Given the description of an element on the screen output the (x, y) to click on. 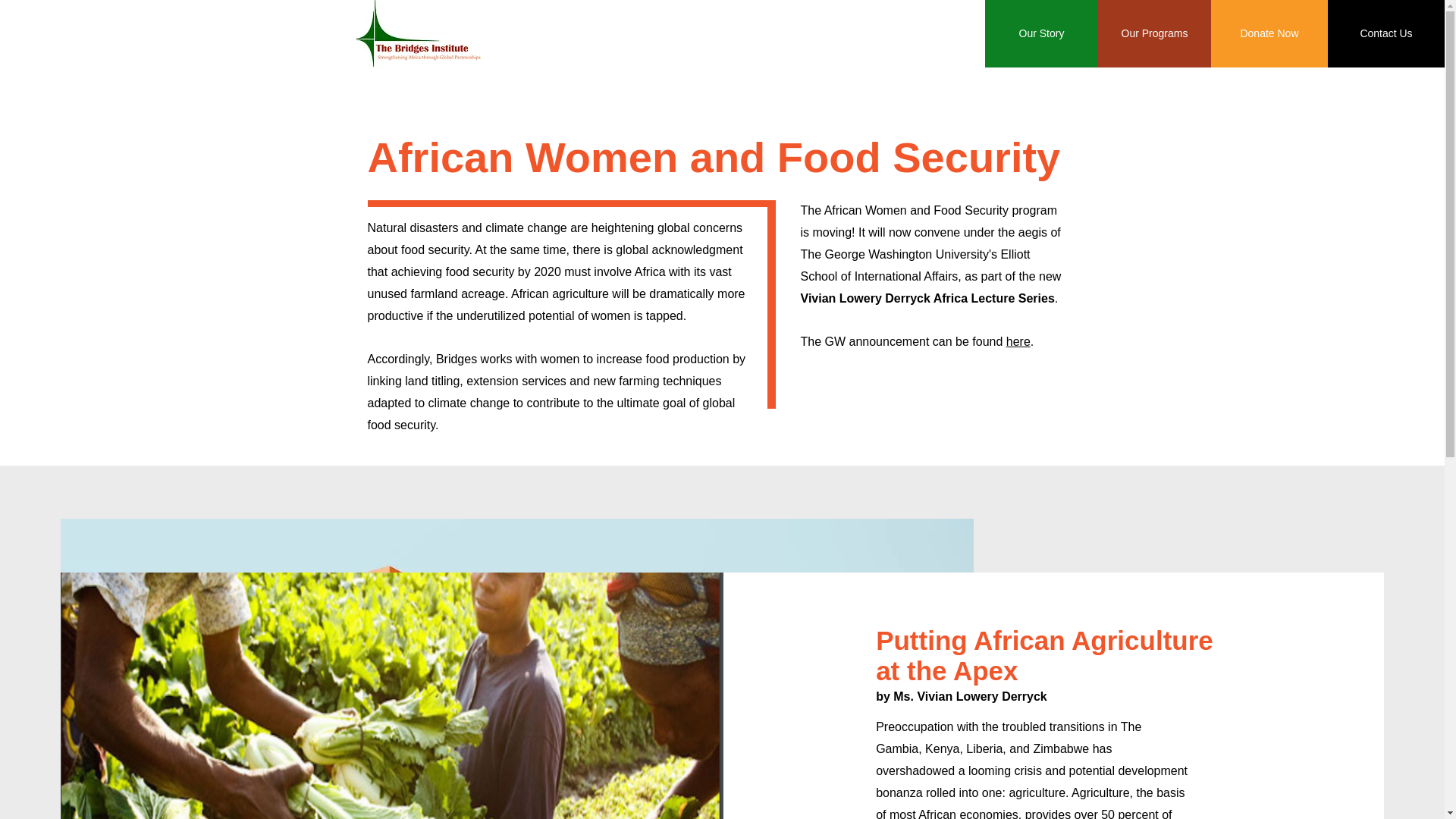
Donate Now (1269, 33)
here (1018, 341)
Our Story (1041, 33)
Our Programs (1154, 33)
